Given the description of an element on the screen output the (x, y) to click on. 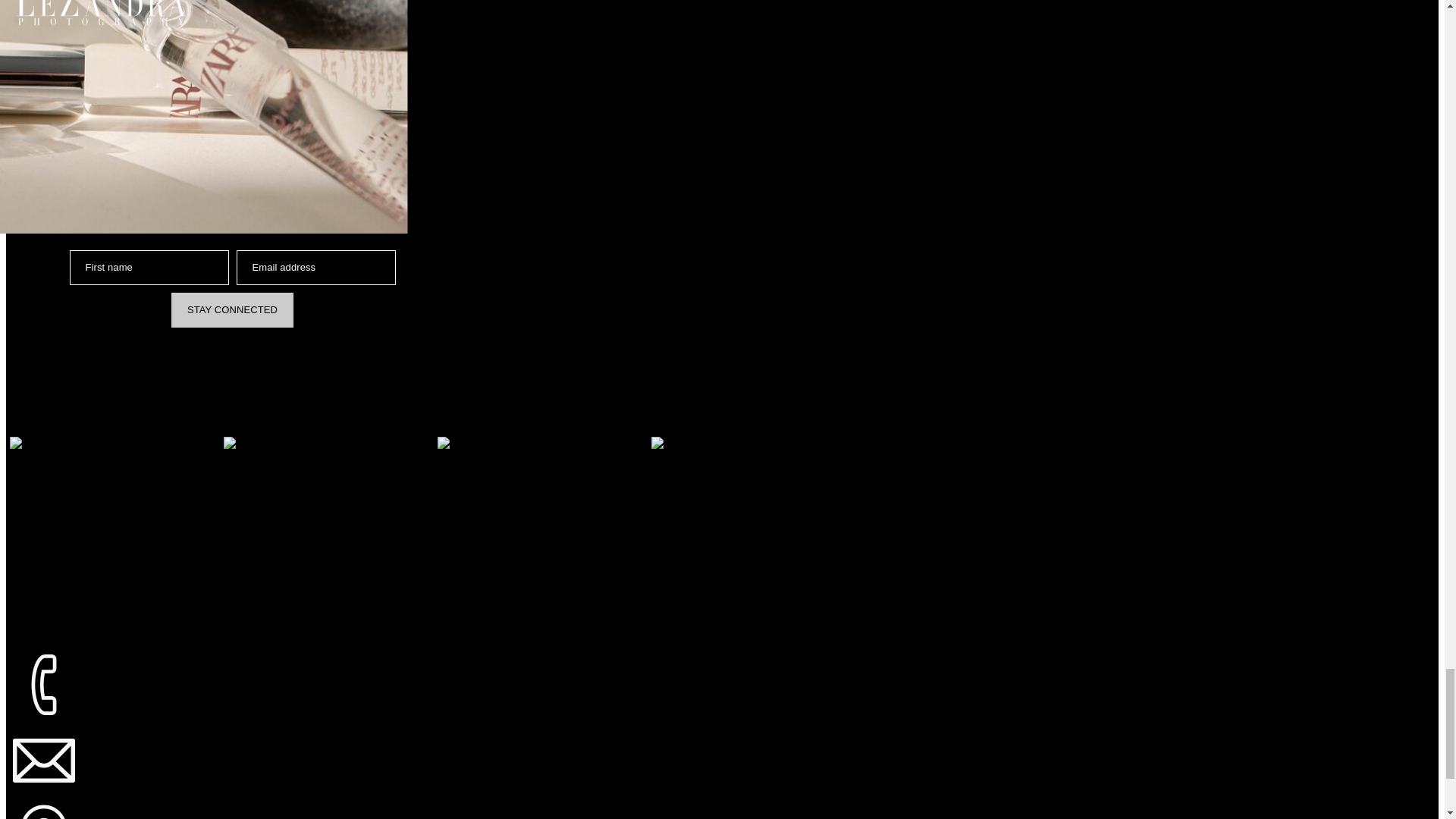
DSC06121 (113, 541)
DSC09183 (755, 541)
DSC00234 (327, 541)
